Given the description of an element on the screen output the (x, y) to click on. 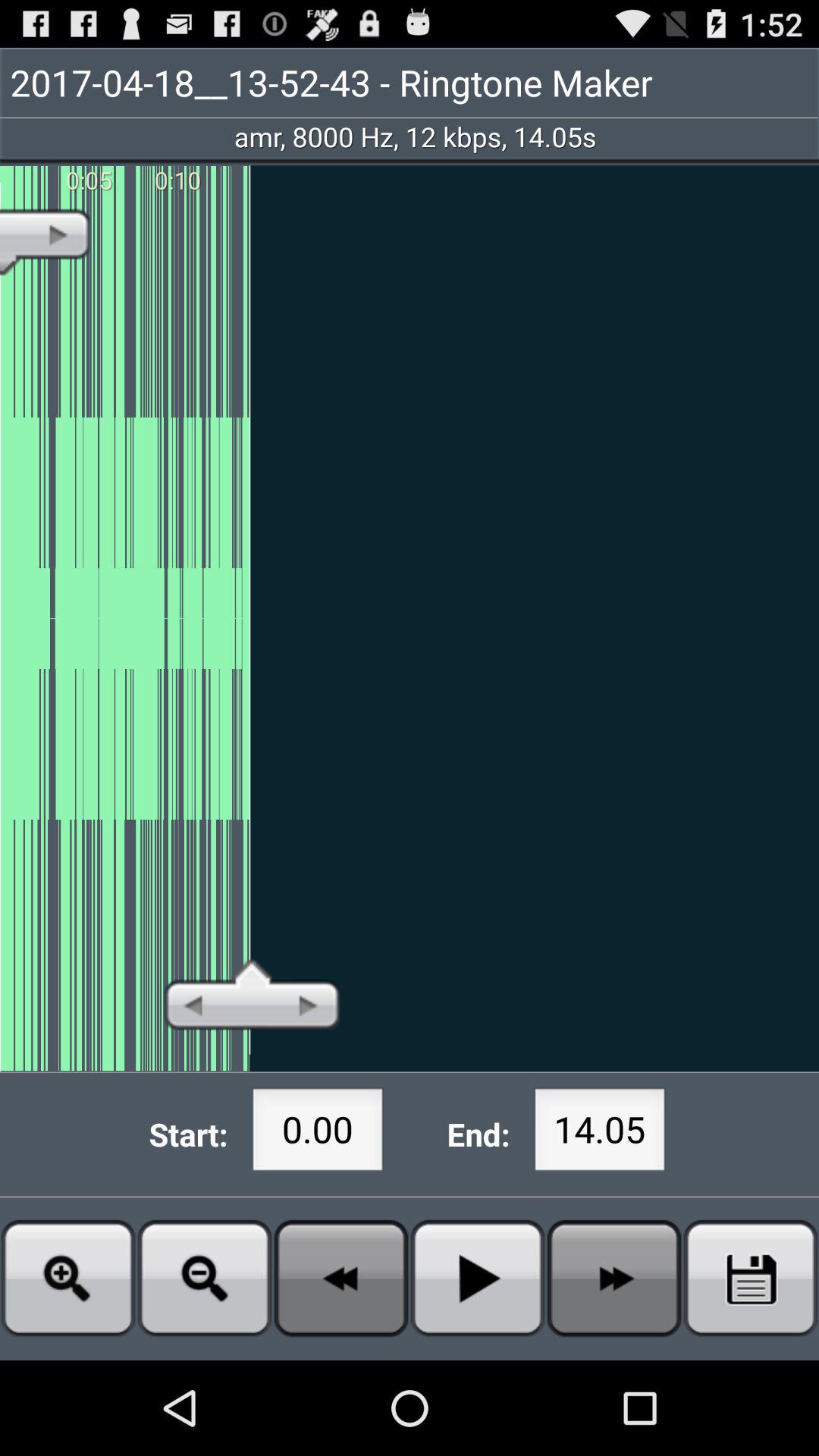
fastforward (614, 1278)
